Given the description of an element on the screen output the (x, y) to click on. 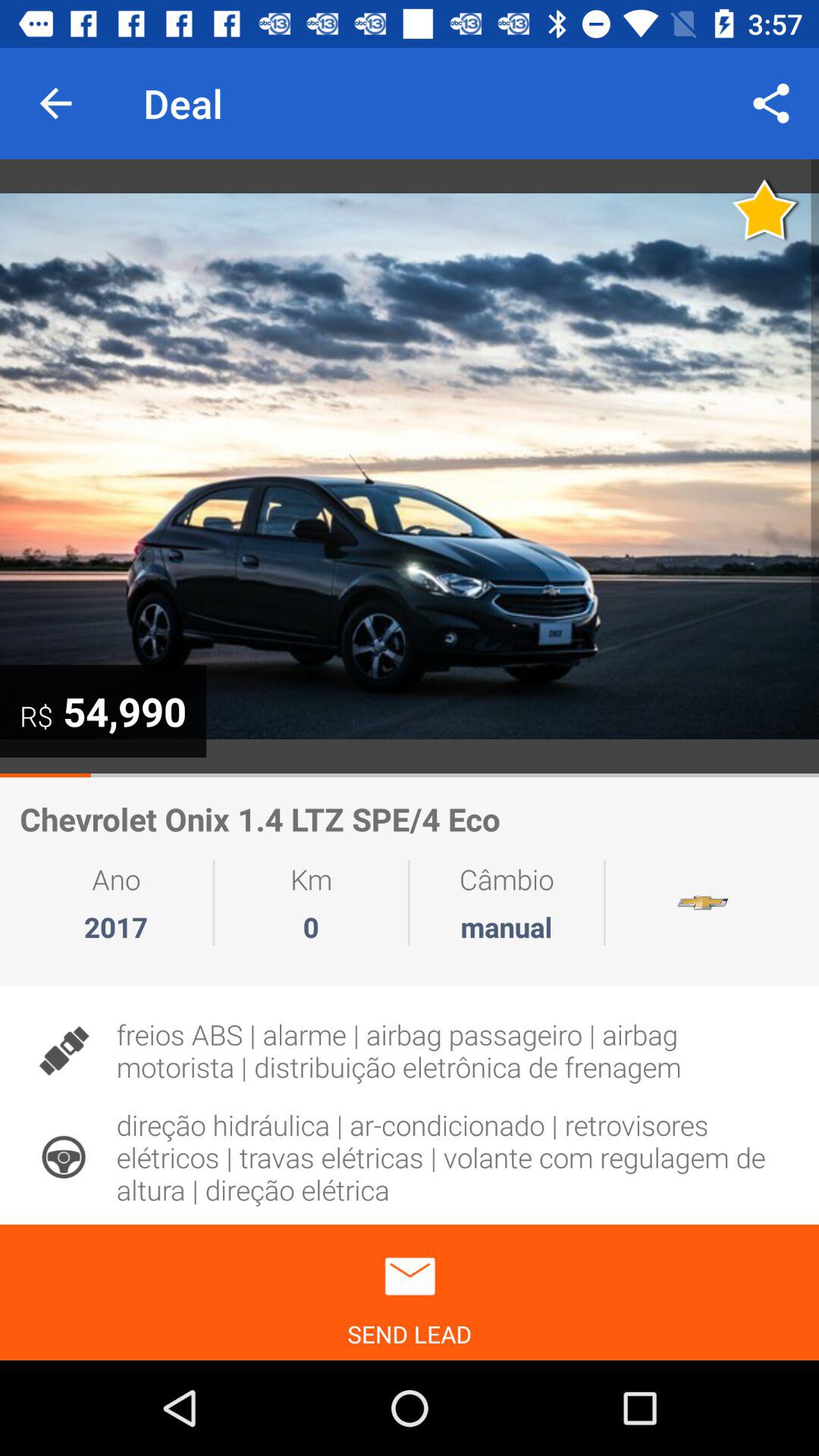
toggle autoplay option (409, 466)
